Given the description of an element on the screen output the (x, y) to click on. 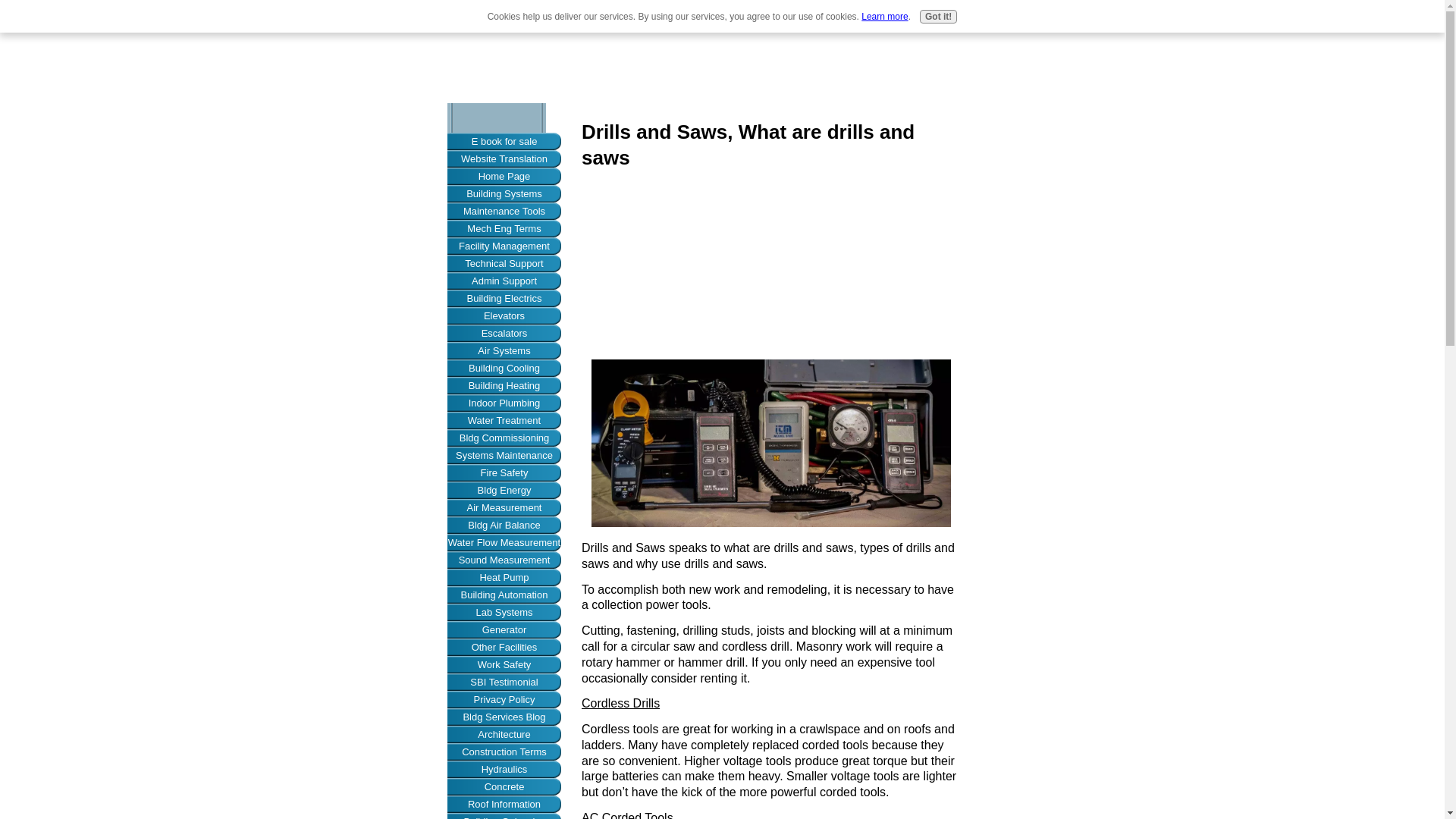
Heat Pump (503, 577)
SBI Testimonial (503, 682)
Architecture (503, 733)
Work Safety (503, 664)
E book for sale (503, 140)
Website Translation (503, 158)
Lab Systems (503, 611)
Elevators (503, 315)
Bldg Services Blog (503, 716)
Technical Support (503, 262)
